Given the description of an element on the screen output the (x, y) to click on. 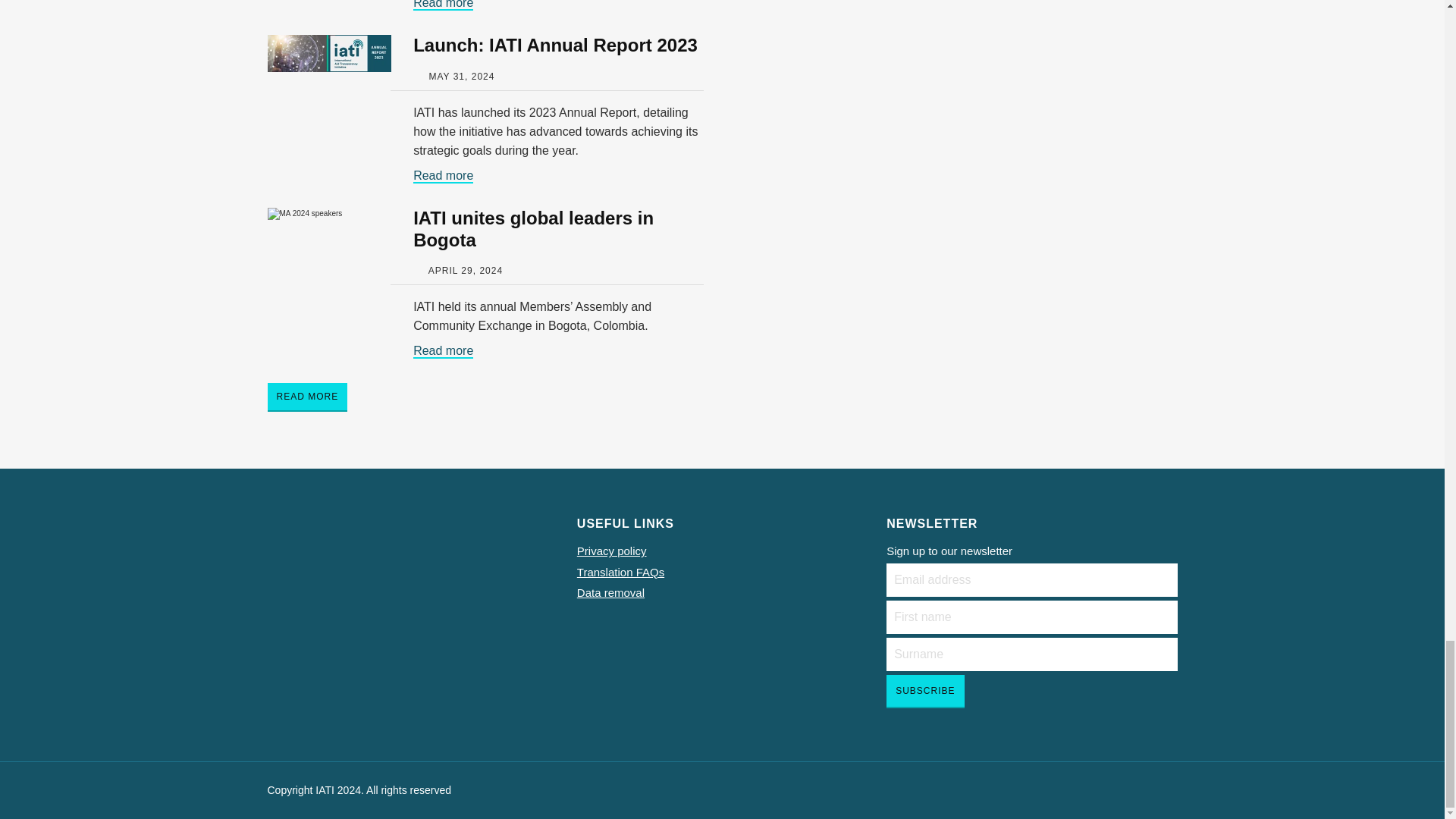
Subscribe (924, 691)
